Given the description of an element on the screen output the (x, y) to click on. 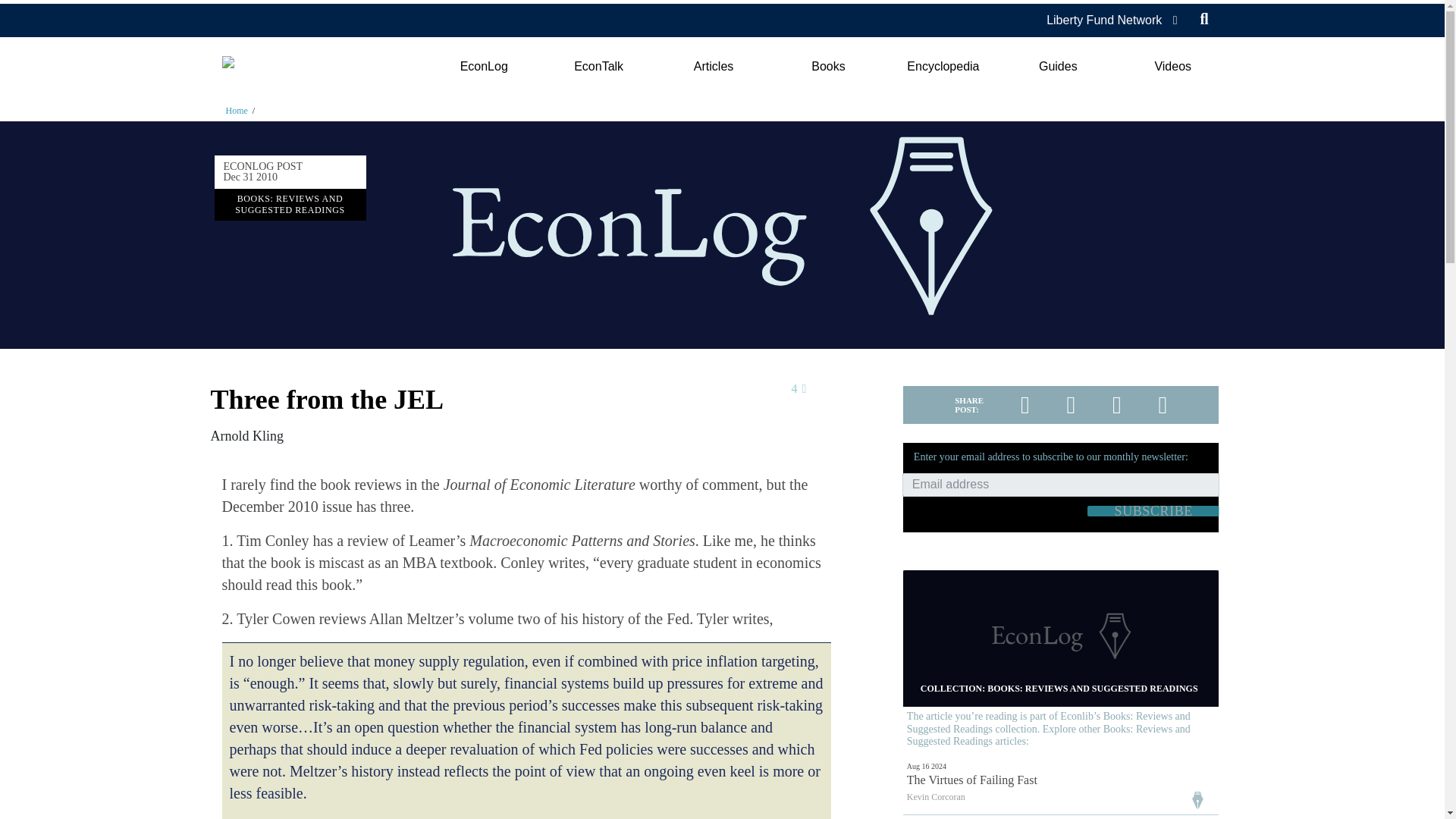
Encyclopedia (942, 66)
EconLog (483, 66)
Books (828, 66)
Arnold Kling (247, 435)
Articles (713, 66)
Liberty Fund Network (1104, 20)
EconTalk (598, 66)
Subscribe (1153, 511)
